Given the description of an element on the screen output the (x, y) to click on. 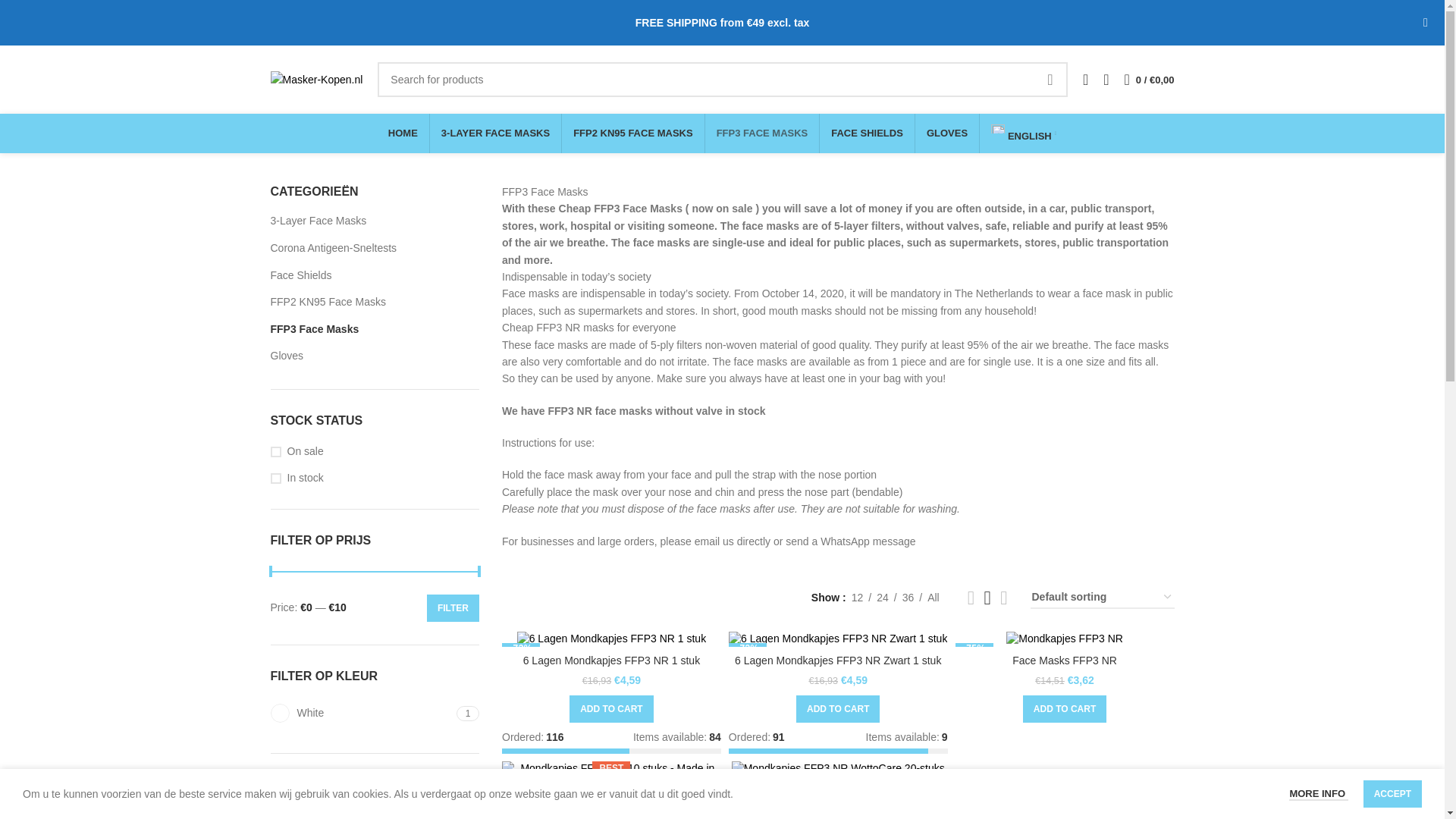
White (360, 713)
FILTER (452, 607)
Corona Antigeen-Sneltests (374, 248)
FFP2 KN95 Face Masks (374, 302)
On sale (374, 451)
FFP3 FACE MASKS (762, 133)
In stock (374, 478)
6 Lagen Mondkapjes FFP3 NR Zwart 1 stuk (404, 814)
SEARCH (1049, 79)
3-LAYER FACE MASKS (495, 133)
Shopping cart (1149, 79)
Search for products (722, 79)
ENGLISH (1024, 133)
GLOVES (947, 133)
FFP2 KN95 FACE MASKS (633, 133)
